Given the description of an element on the screen output the (x, y) to click on. 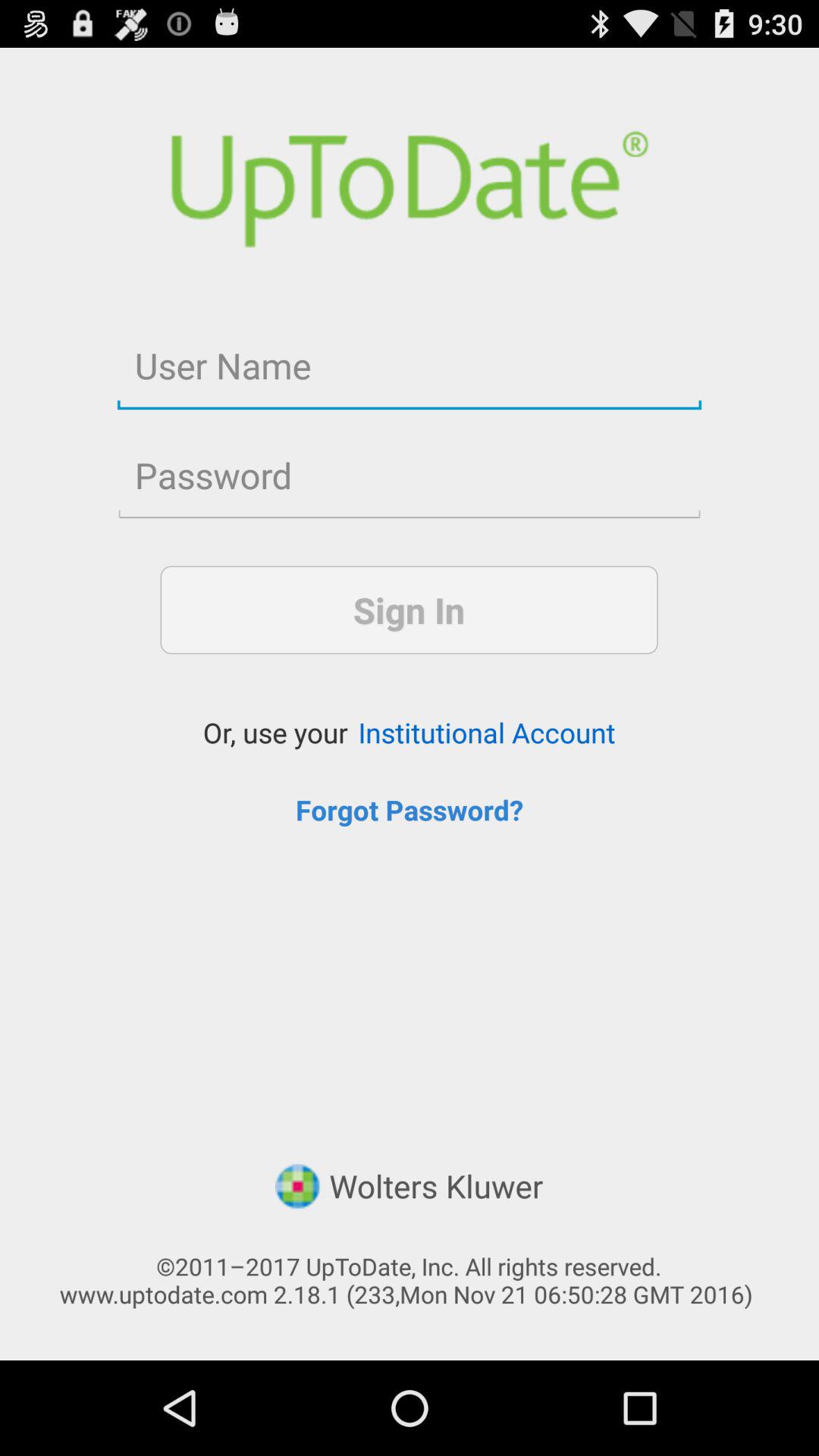
scroll until the sign in item (409, 609)
